Given the description of an element on the screen output the (x, y) to click on. 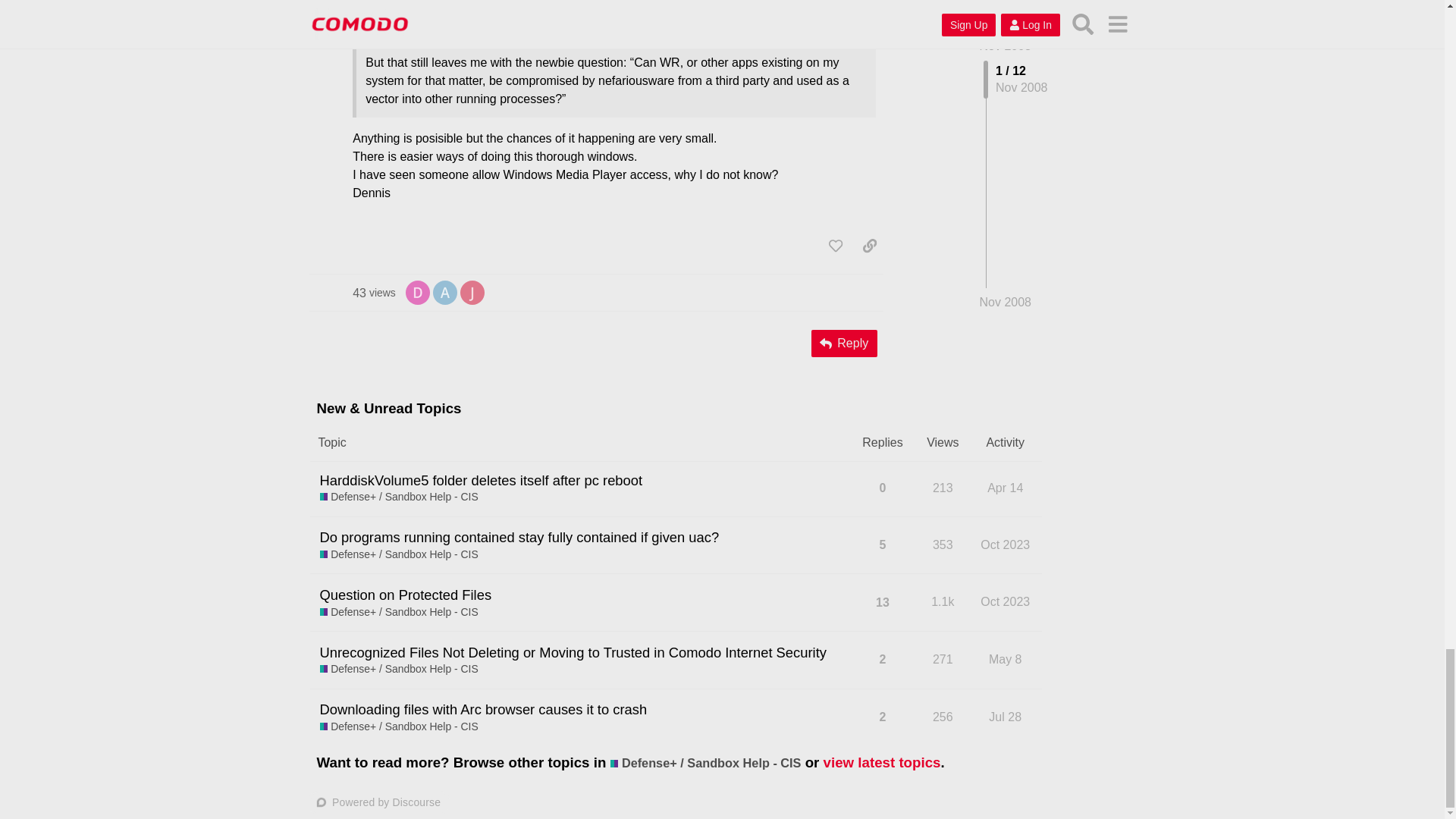
John Buchanan (374, 292)
Dennis2 (472, 292)
Dennis2 (417, 291)
archer53 (417, 292)
jebuchanan (444, 291)
archer53 (472, 291)
